Given the description of an element on the screen output the (x, y) to click on. 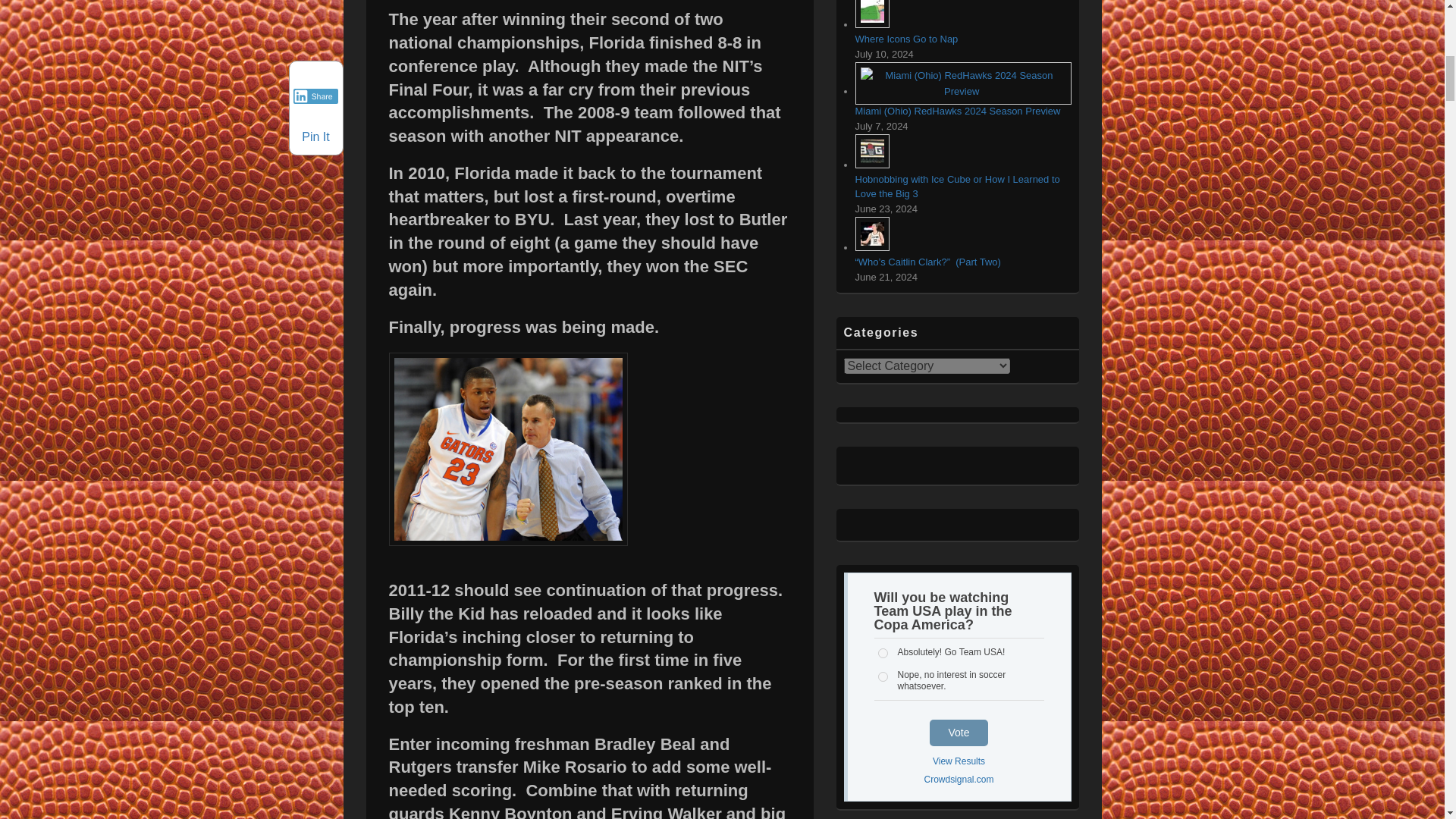
Bill Donovan coaches Bradley Beal (507, 449)
62154730 (882, 676)
62154729 (882, 653)
